Given the description of an element on the screen output the (x, y) to click on. 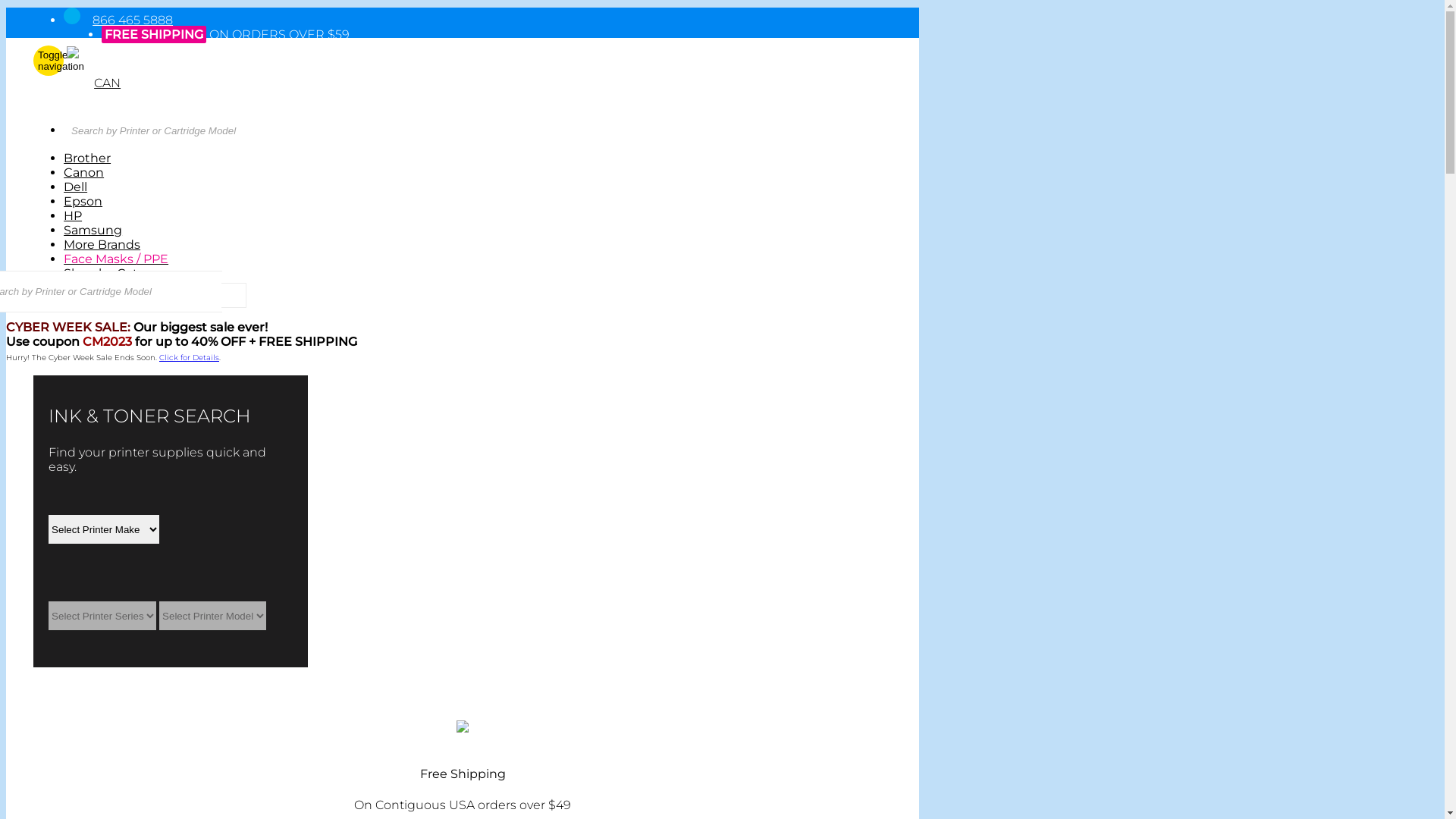
Face Masks / PPE Element type: text (115, 258)
HP Element type: text (72, 215)
USA Element type: text (76, 60)
Dell Element type: text (75, 186)
Epson Element type: text (82, 201)
  My Account Element type: text (102, 97)
866 465 5888 Element type: text (132, 19)
Brother Element type: text (86, 157)
Toggle navigation Element type: text (48, 60)
CAN Element type: text (107, 82)
Shop by Category Element type: text (117, 273)
  Cart Element type: text (78, 111)
Canon Element type: text (83, 172)
Click for Details Element type: text (189, 357)
Samsung Element type: text (92, 229)
More Brands Element type: text (101, 244)
